Given the description of an element on the screen output the (x, y) to click on. 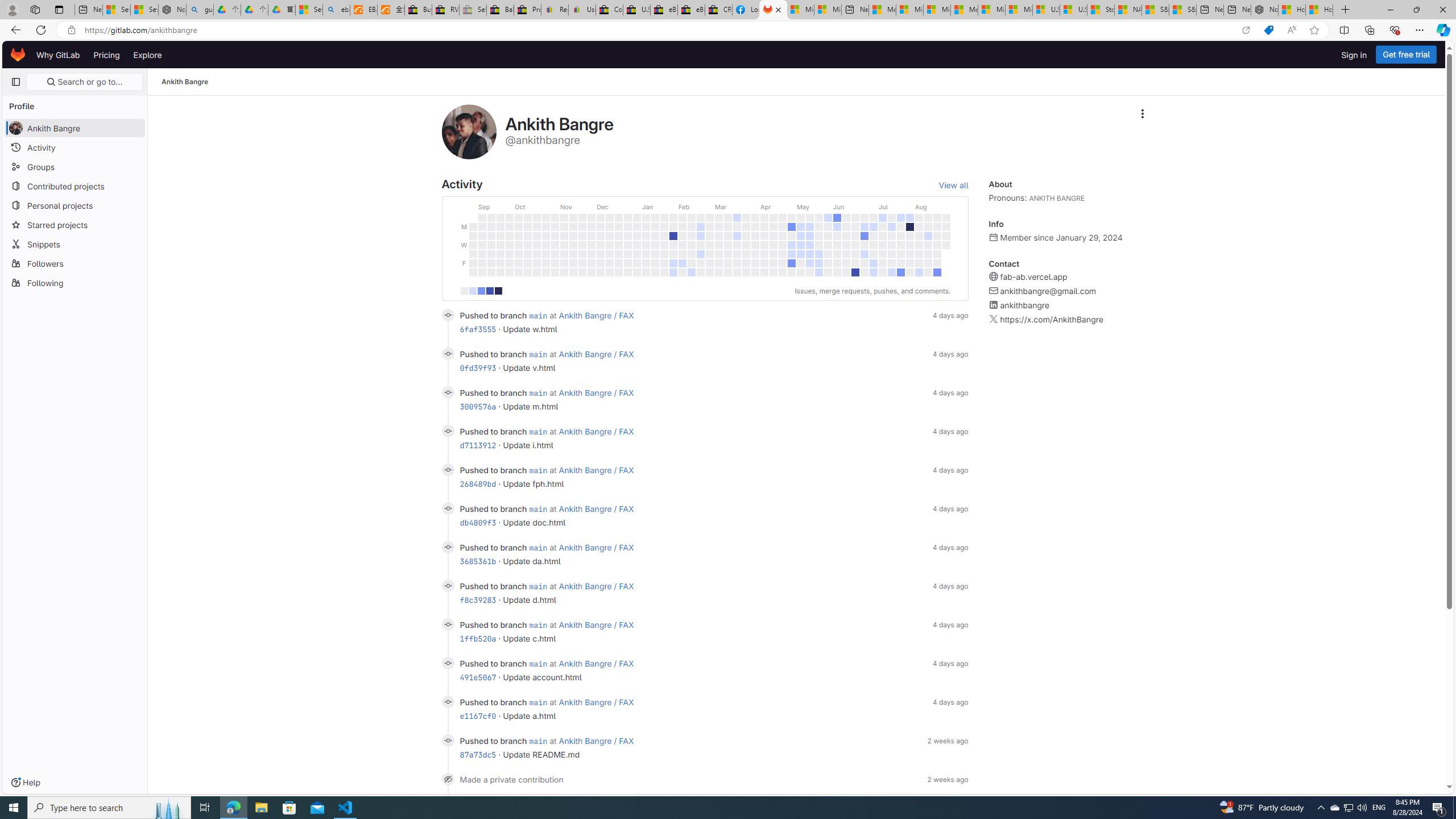
Close tab (778, 9)
https://x.com/AnkithBangre (1051, 319)
Class: contrib-calendar (704, 243)
AutomationID: dropdown-toggle-btn-16 (1141, 113)
ankithbangre (1024, 305)
Microsoft account | Home (936, 9)
